Given the description of an element on the screen output the (x, y) to click on. 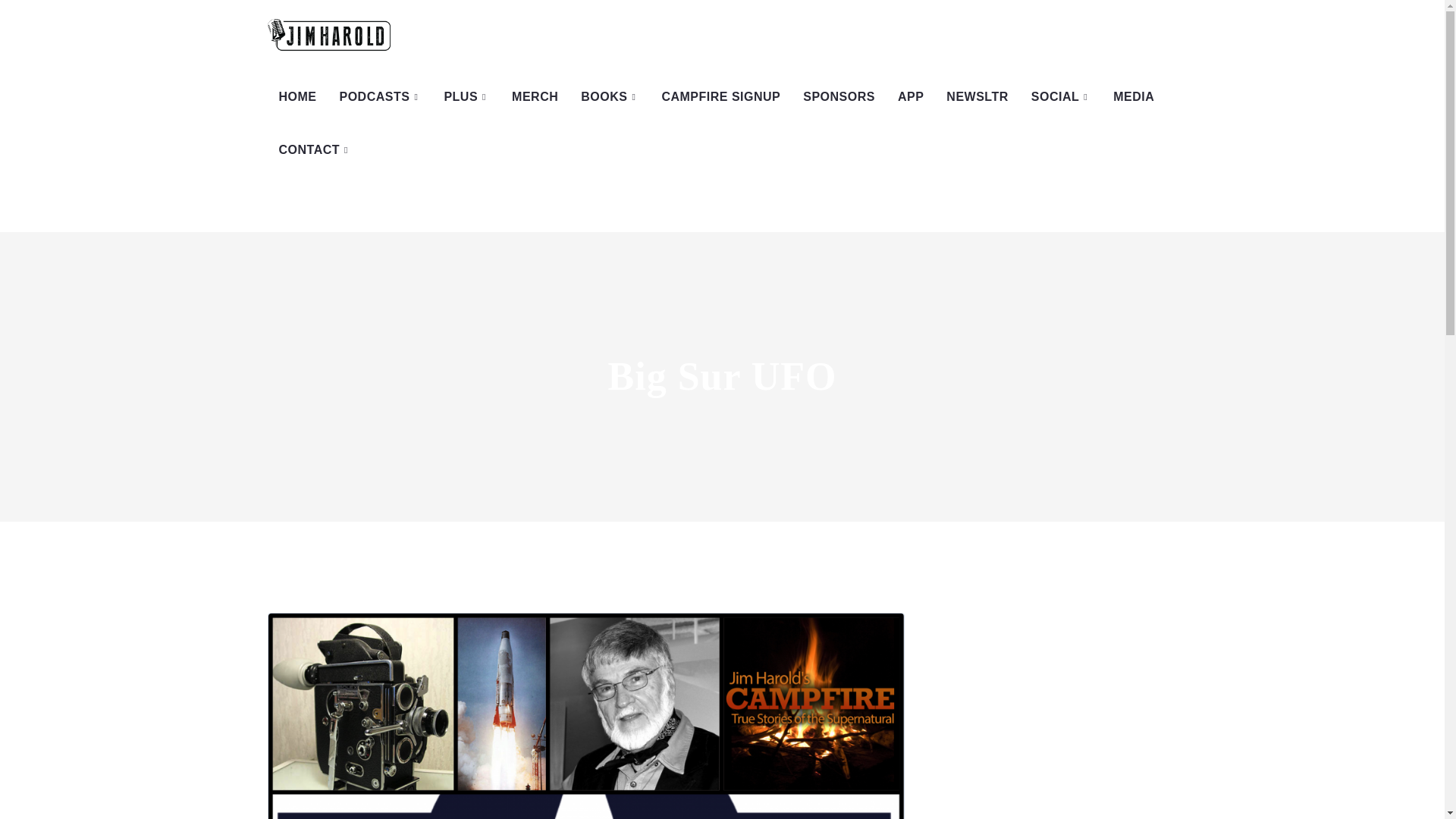
PODCASTS (379, 96)
HOME (296, 96)
SPONSORS (839, 96)
APP (910, 96)
SOCIAL (1061, 96)
BOOKS (609, 96)
CONTACT (314, 149)
MEDIA (1134, 96)
NEWSLTR (976, 96)
CAMPFIRE SIGNUP (720, 96)
JimHarold.com (328, 35)
PLUS (466, 96)
MERCH (534, 96)
